Given the description of an element on the screen output the (x, y) to click on. 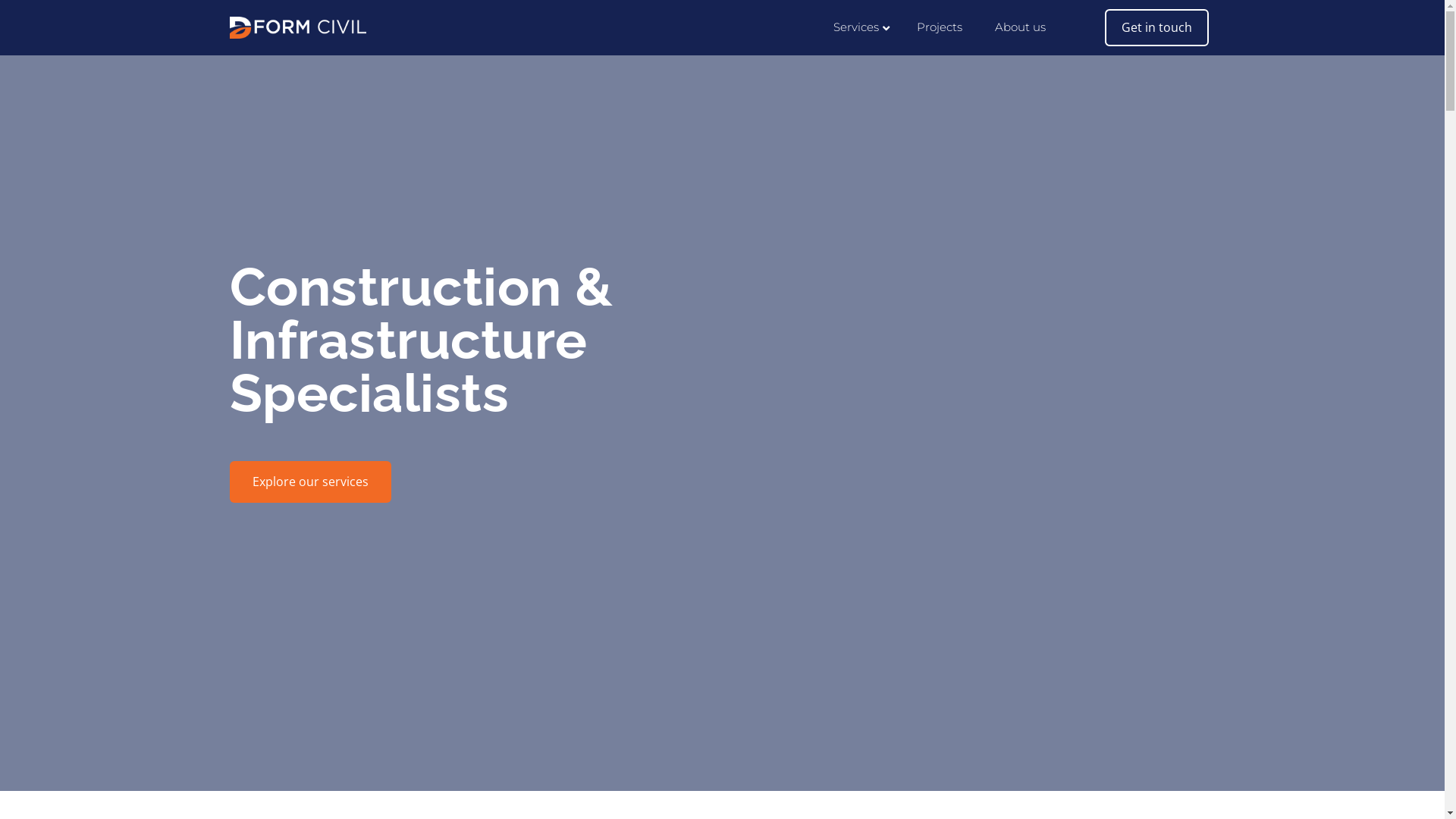
Projects Element type: text (939, 27)
About us Element type: text (1020, 27)
Services Element type: text (861, 27)
Explore our services Element type: text (309, 481)
Get in touch Element type: text (1156, 27)
